Given the description of an element on the screen output the (x, y) to click on. 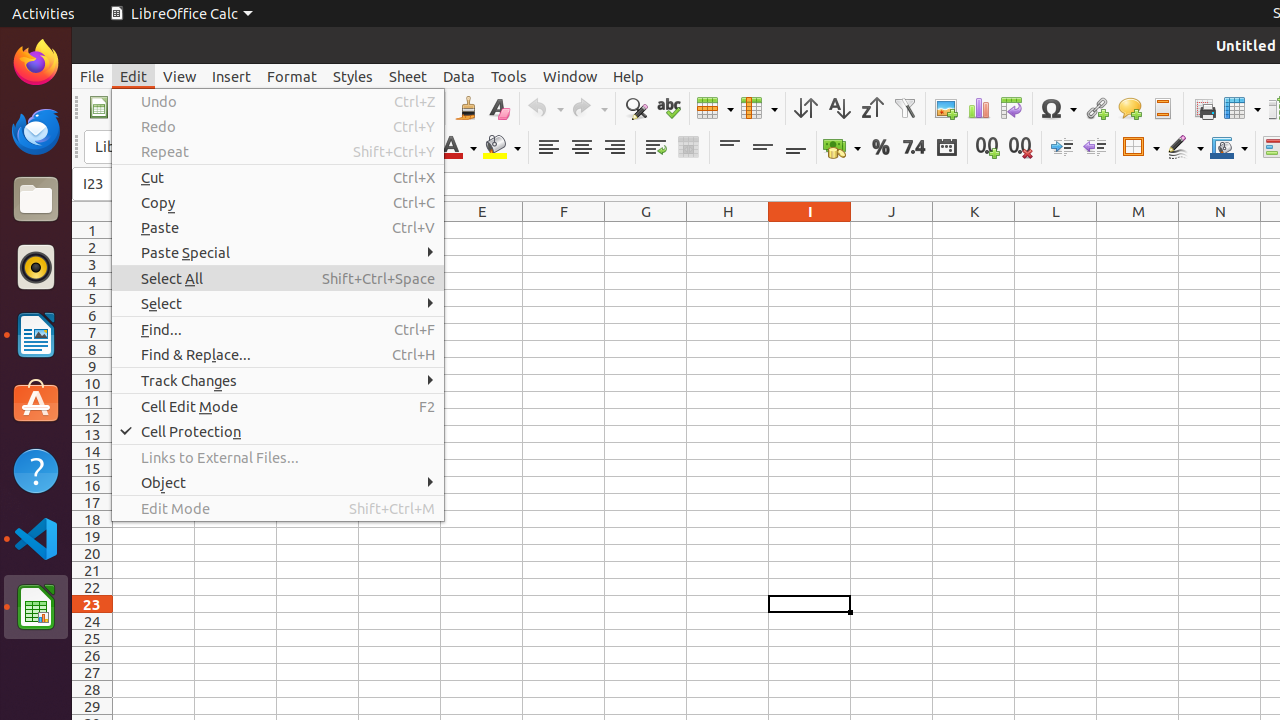
Comment Element type: push-button (1129, 108)
